Given the description of an element on the screen output the (x, y) to click on. 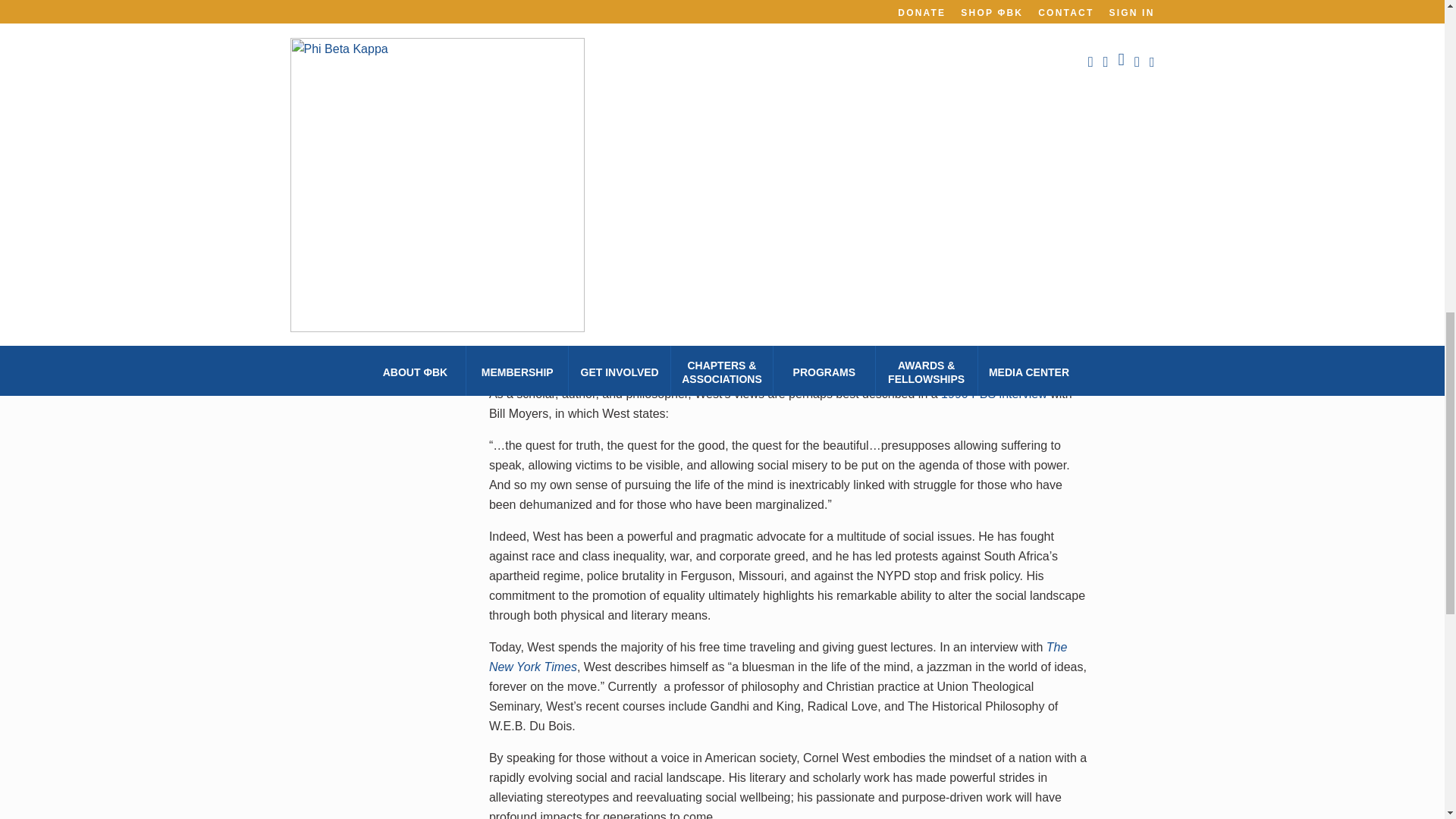
MANAGE SUBSCRIPTION (376, 21)
PBK FAMILY ALBUM 2 (376, 167)
